Given the description of an element on the screen output the (x, y) to click on. 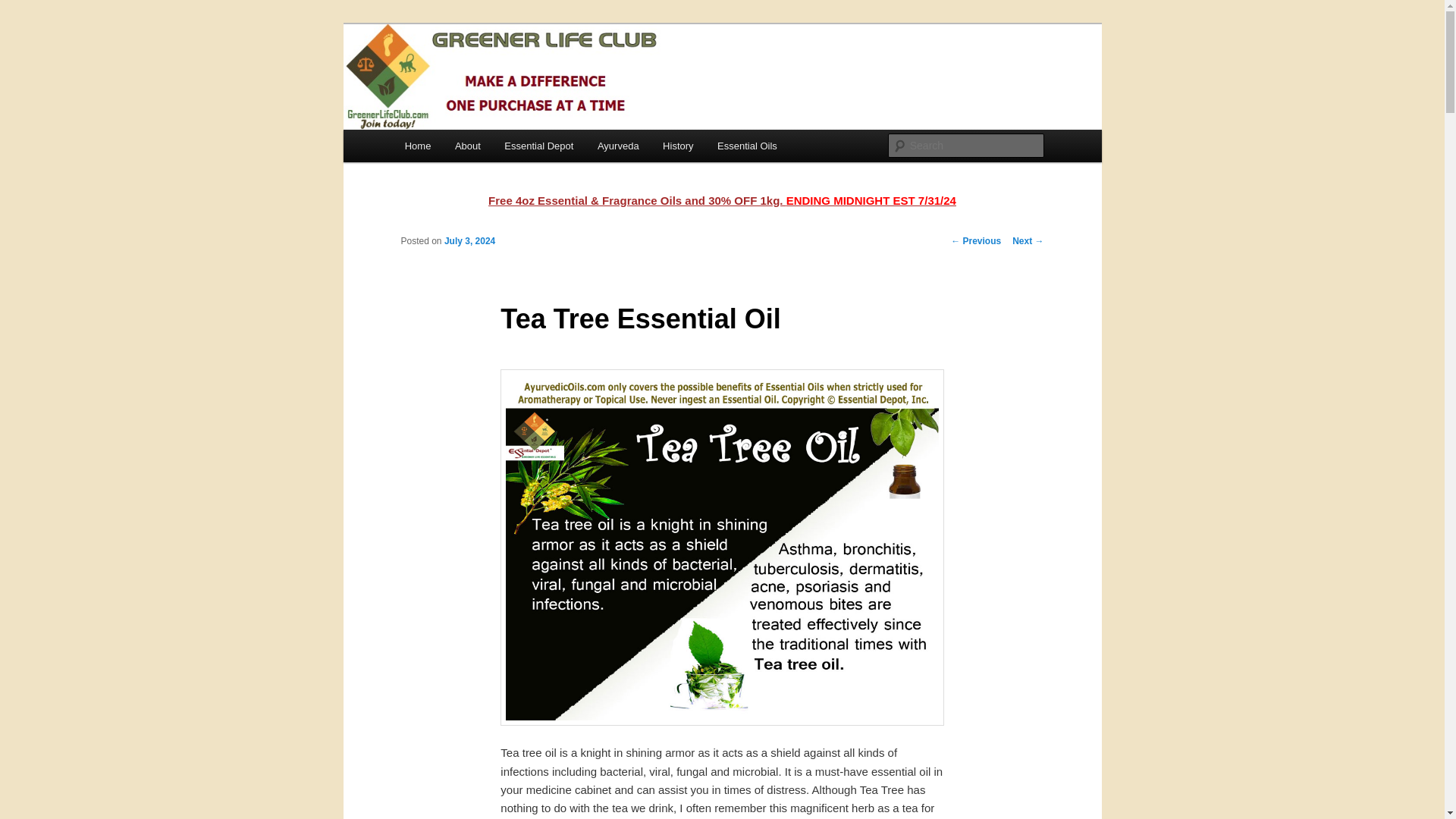
Ayurveda (617, 145)
Essential Depot (539, 145)
History (677, 145)
Search (24, 8)
Essential Oil (468, 78)
Essential Oils (746, 145)
July 3, 2024 (469, 240)
Home (417, 145)
About (467, 145)
10:12 am (469, 240)
